Given the description of an element on the screen output the (x, y) to click on. 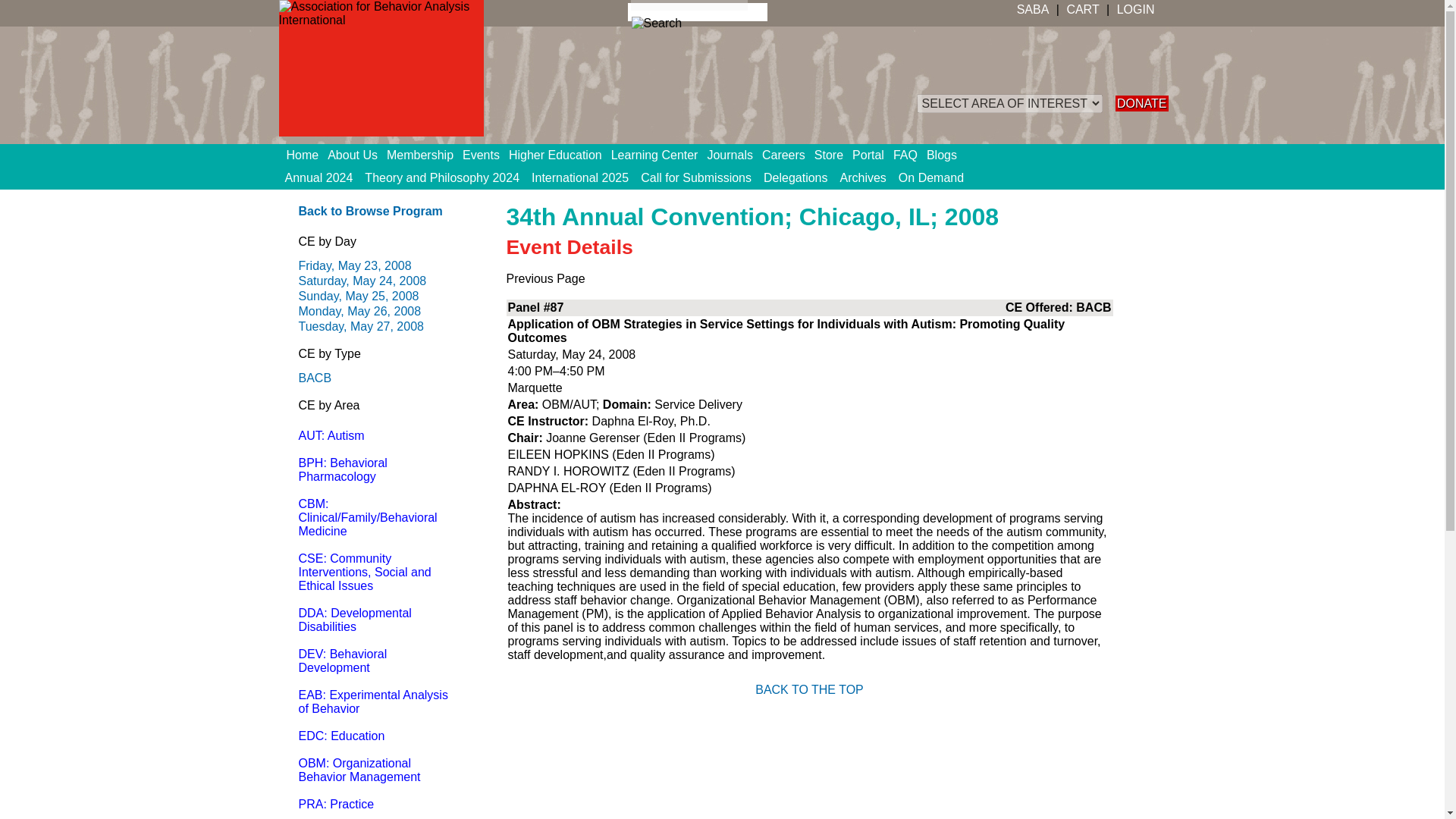
Call for Submissions (695, 178)
CART (1082, 9)
Events (485, 155)
About Us (357, 155)
Theory and Philosophy 2024 (441, 178)
Blogs (946, 155)
Careers (787, 155)
International 2025 (579, 178)
Back to Browse Program (370, 210)
Higher Education (559, 155)
